Given the description of an element on the screen output the (x, y) to click on. 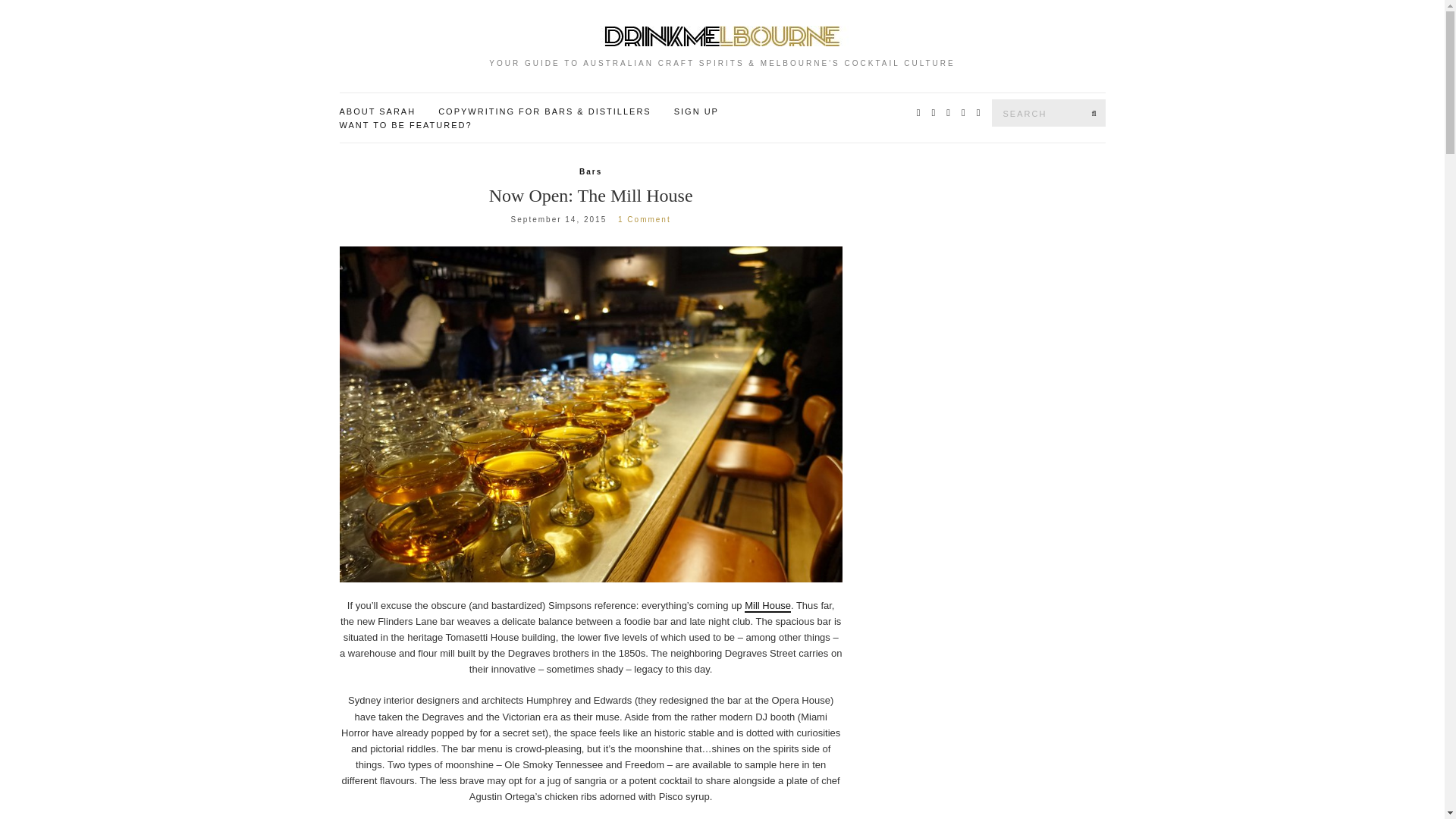
1 Comment (644, 219)
ABOUT SARAH (377, 111)
WANT TO BE FEATURED? (405, 125)
Mill House (767, 605)
Bars (590, 172)
SIGN UP (696, 111)
